Given the description of an element on the screen output the (x, y) to click on. 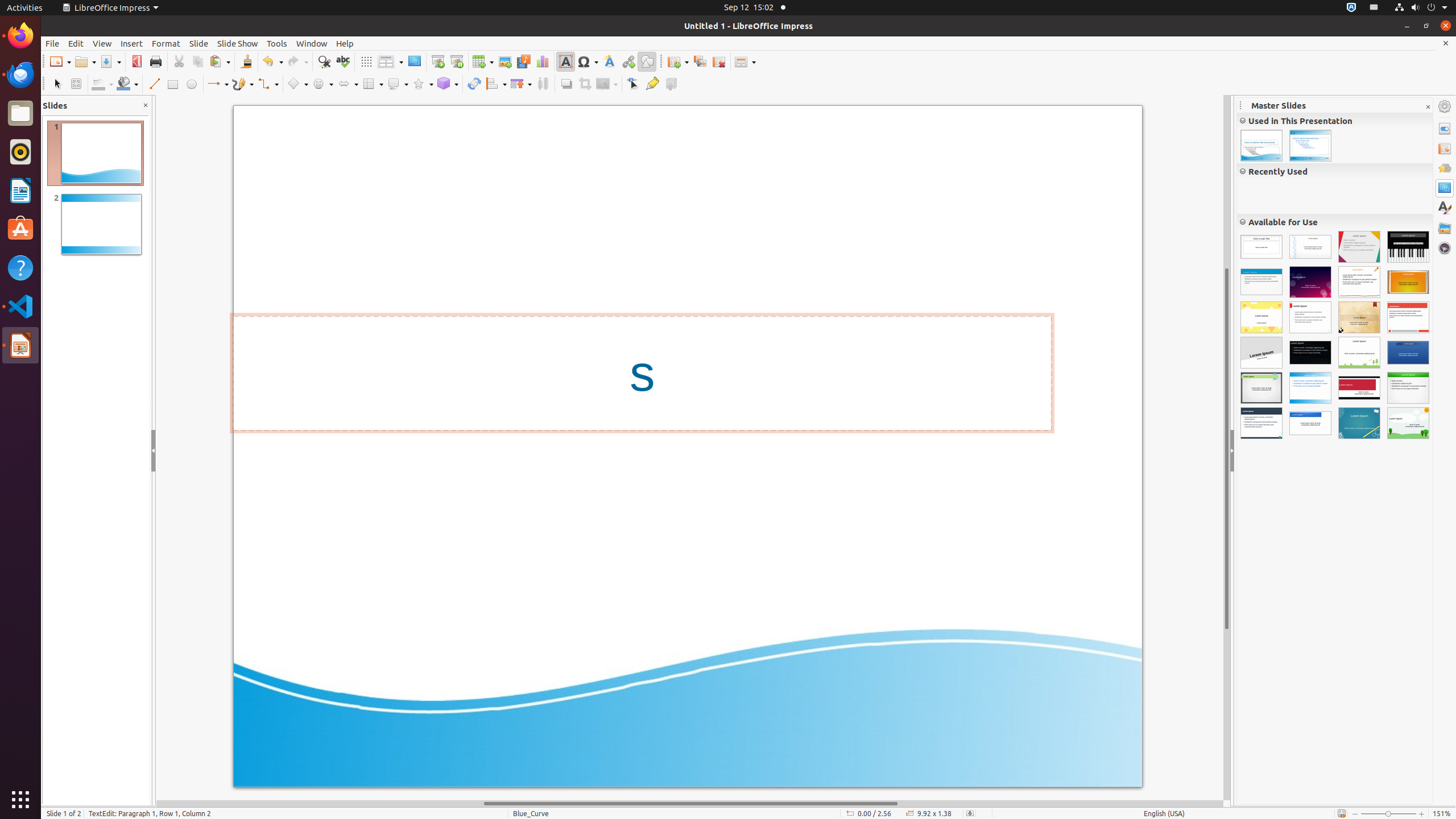
Select Element type: push-button (56, 83)
Format Element type: menu (165, 43)
Blue_Curve Element type: list-item (1261, 145)
PDF Element type: push-button (136, 61)
Lines and Arrows Element type: push-button (217, 83)
